Given the description of an element on the screen output the (x, y) to click on. 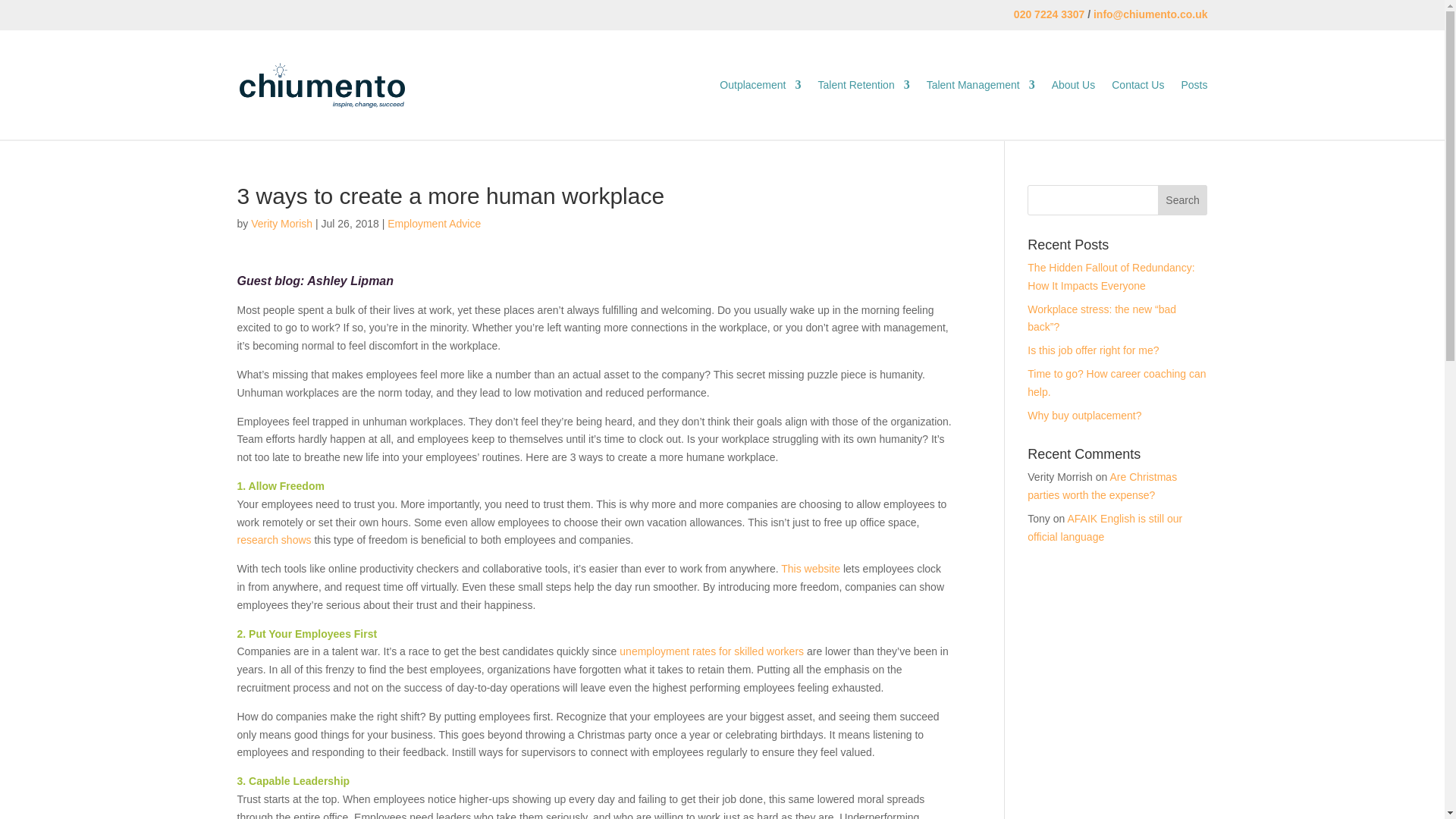
Search (1182, 200)
Is this job offer right for me? (1092, 349)
Employment Advice (433, 223)
Talent Management (980, 84)
Posts by Verity Morish (281, 223)
Search (1182, 200)
Are Christmas parties worth the expense? (1101, 485)
research shows (273, 539)
This website (810, 568)
Talent Retention (862, 84)
Why buy outplacement? (1084, 415)
The Hidden Fallout of Redundancy: How It Impacts Everyone (1110, 276)
Verity Morish (281, 223)
020 7224 3307 (1048, 14)
AFAIK English is still our official language (1104, 527)
